Given the description of an element on the screen output the (x, y) to click on. 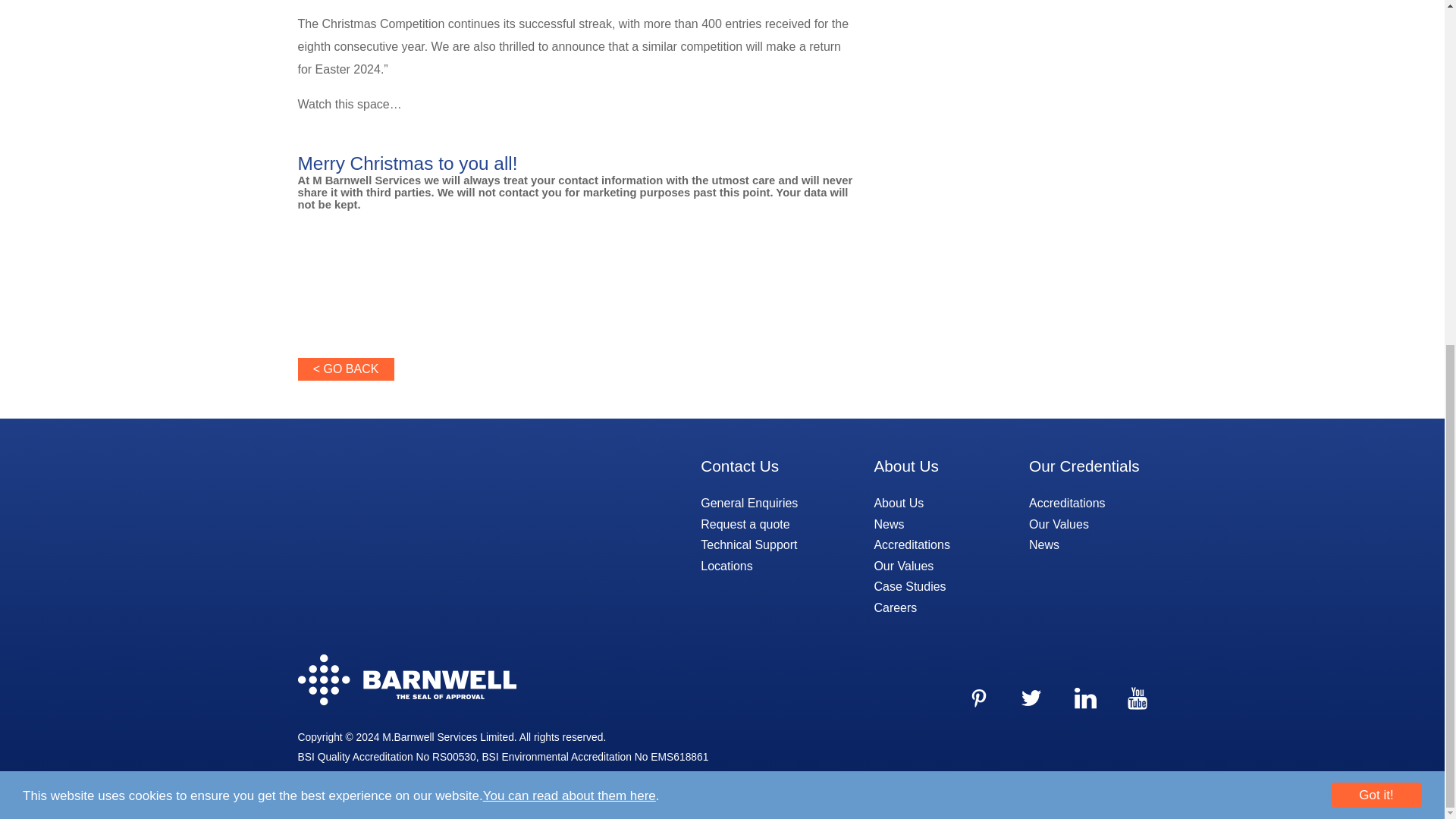
You can read about them here (569, 263)
General Enquiries (748, 502)
Request a quote (744, 523)
Technical Support (748, 544)
